Given the description of an element on the screen output the (x, y) to click on. 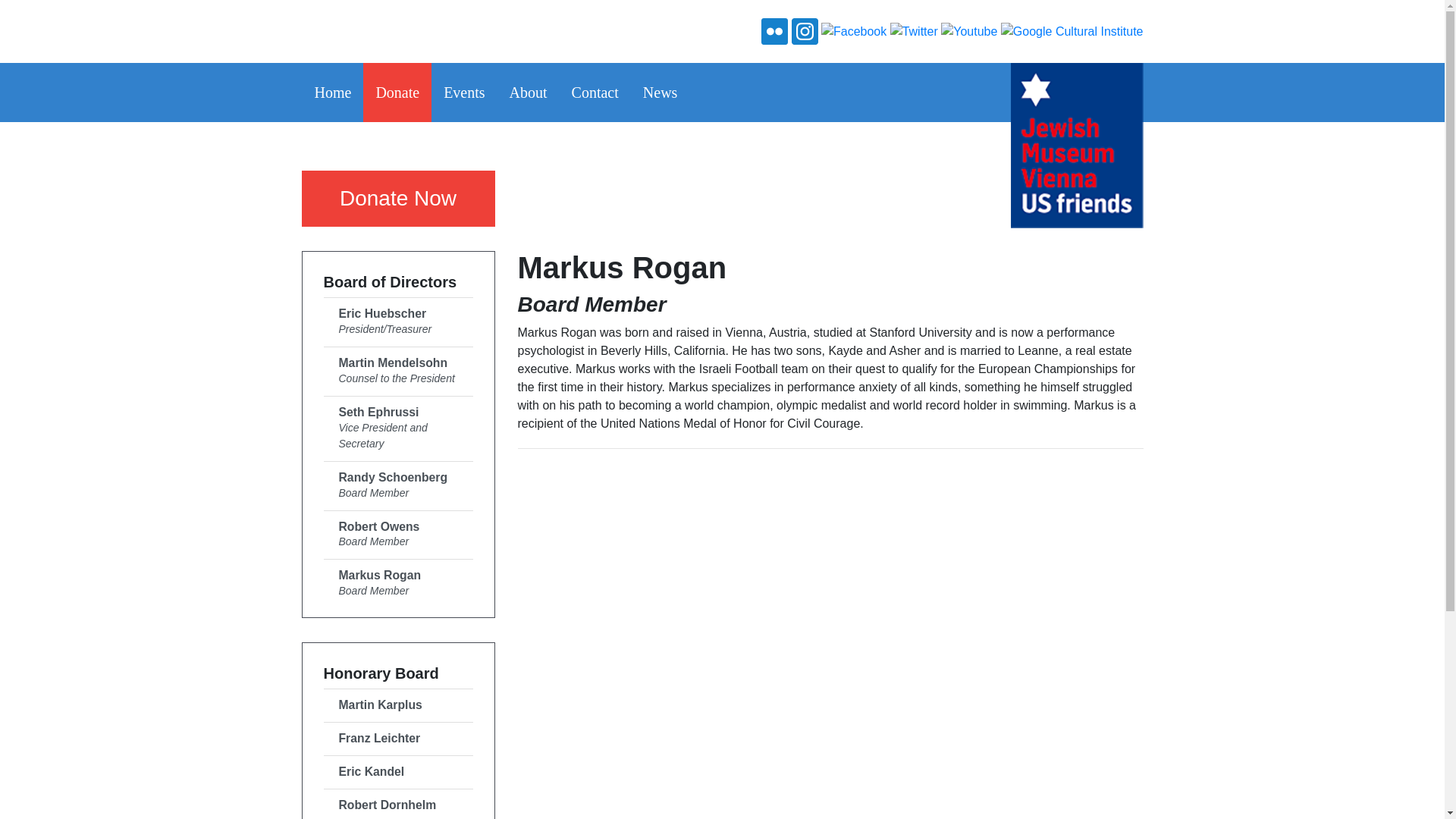
Donate Now (398, 198)
Google Cultural Institute (1071, 30)
Youtube (397, 583)
Facebook (968, 30)
Events (853, 30)
Donate (463, 92)
Instagram (396, 92)
News (397, 486)
